Given the description of an element on the screen output the (x, y) to click on. 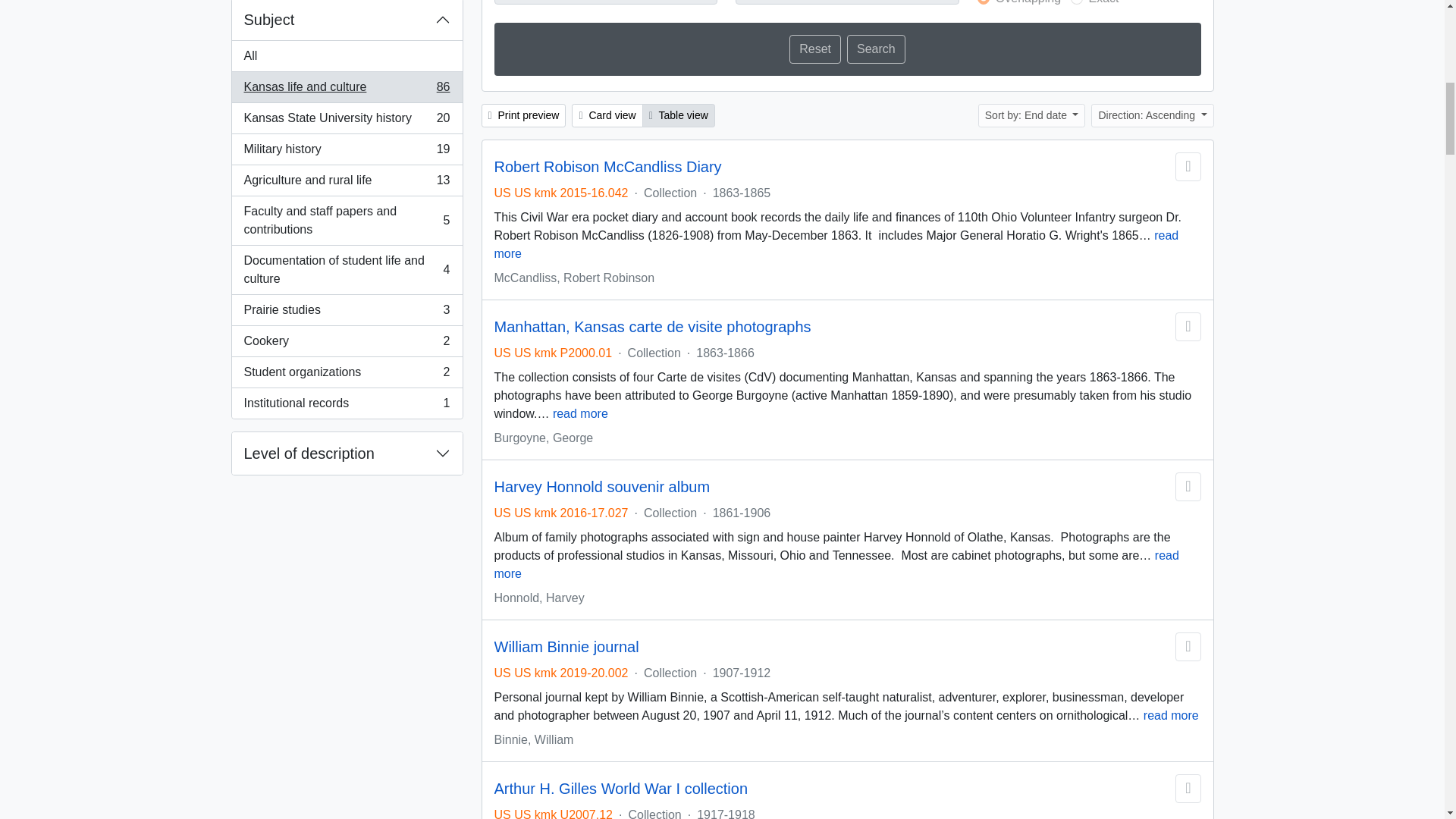
Search (876, 49)
exact (1076, 2)
inclusive (983, 2)
Reset (815, 49)
